Given the description of an element on the screen output the (x, y) to click on. 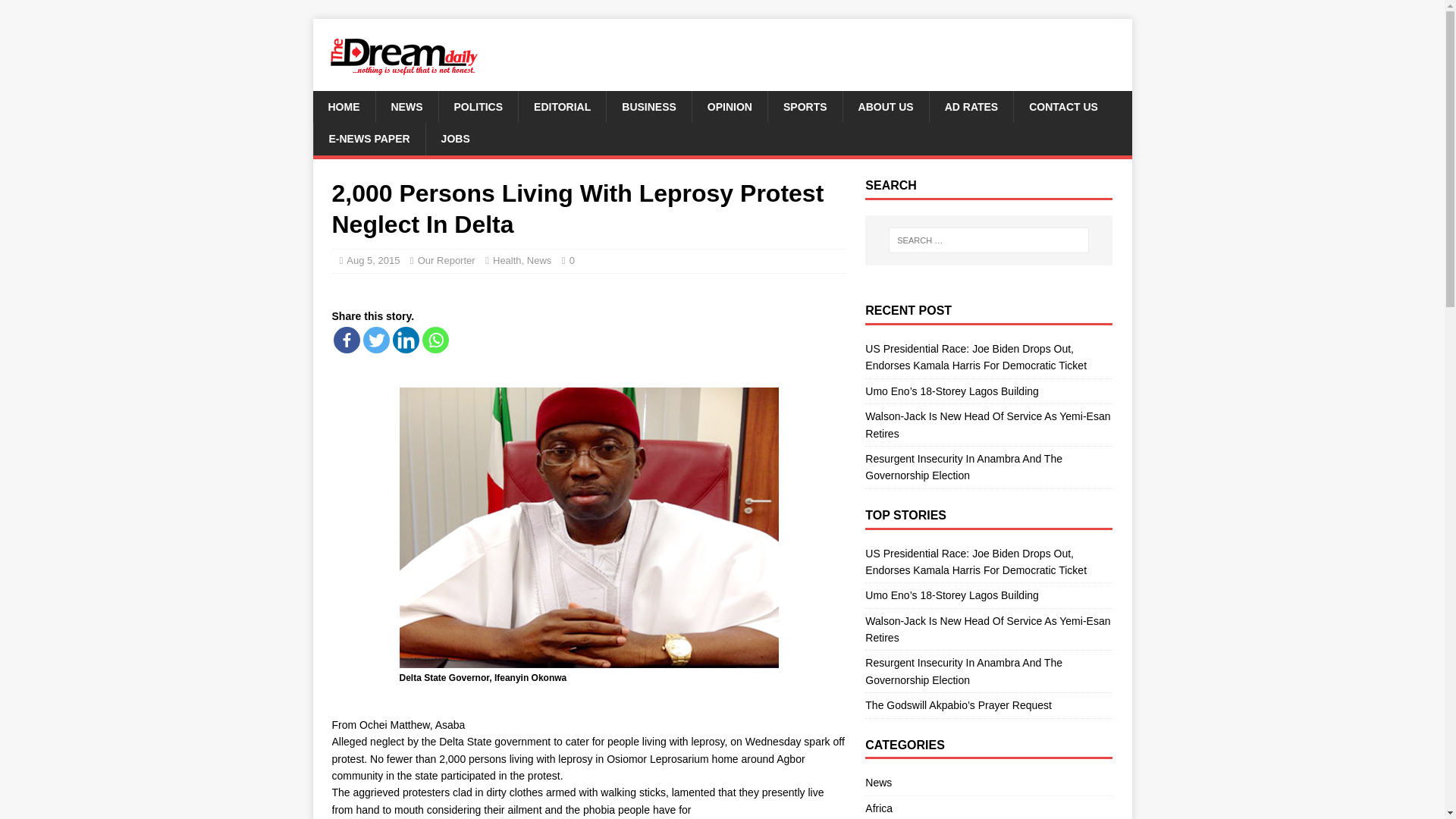
Linkedin (406, 339)
Health (507, 260)
ABOUT US (885, 106)
NEWS (406, 106)
AD RATES (970, 106)
EDITORIAL (561, 106)
JOBS (454, 138)
Twitter (375, 339)
Facebook (346, 339)
E-NEWS PAPER (369, 138)
News (539, 260)
OPINION (729, 106)
Whatsapp (435, 339)
CONTACT US (1063, 106)
HOME (343, 106)
